Given the description of an element on the screen output the (x, y) to click on. 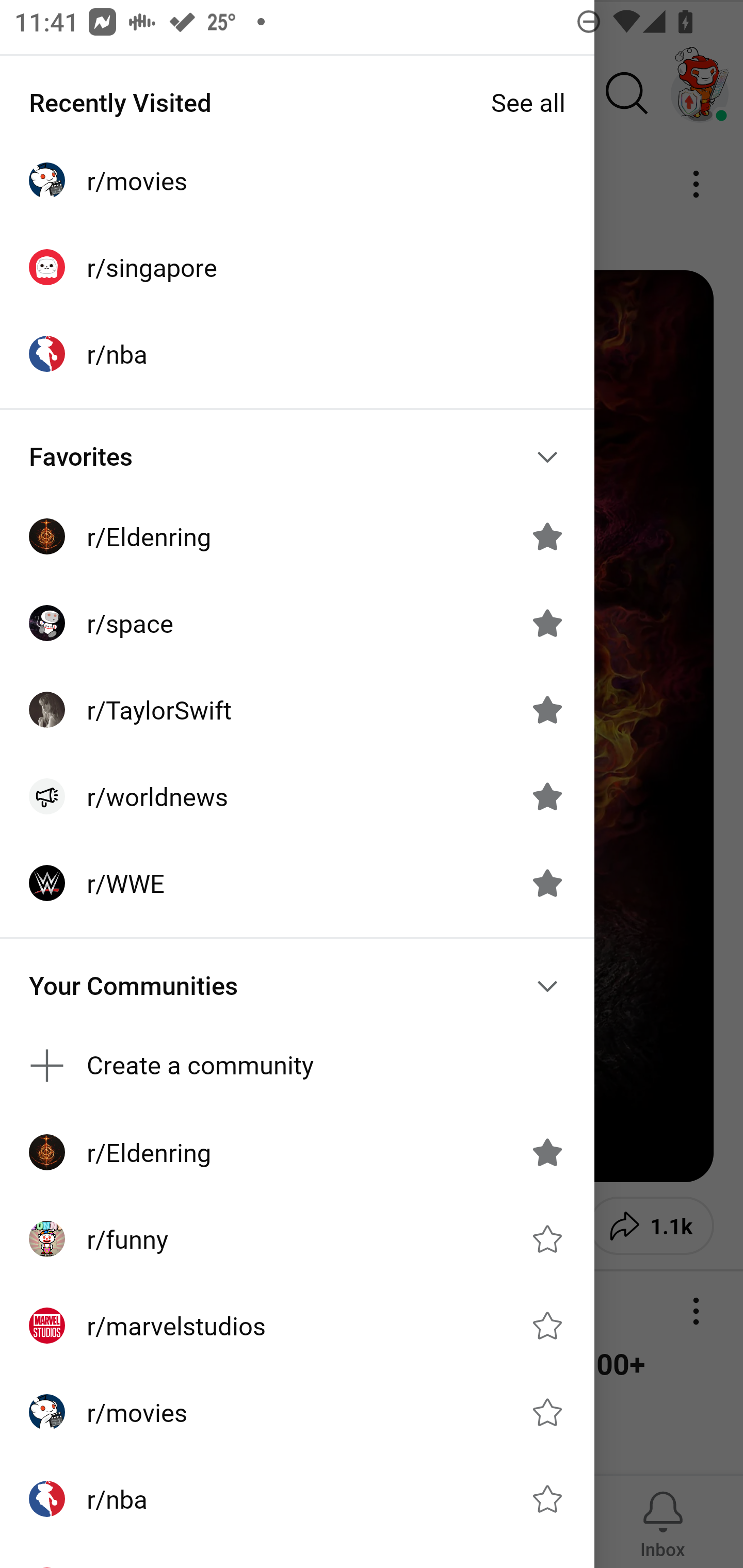
Recently Visited See all (297, 102)
See all (528, 102)
r/movies (297, 180)
r/singapore (297, 267)
r/nba (297, 353)
Favorites (297, 456)
r/Eldenring Unfavorite r/Eldenring (297, 536)
Unfavorite r/Eldenring (546, 536)
r/space Unfavorite r/space (297, 623)
Unfavorite r/space (546, 623)
r/TaylorSwift Unfavorite r/TaylorSwift (297, 709)
Unfavorite r/TaylorSwift (546, 709)
r/worldnews Unfavorite r/worldnews (297, 796)
Unfavorite r/worldnews (546, 796)
r/WWE Unfavorite r/WWE (297, 883)
Unfavorite r/WWE (546, 882)
Your Communities (297, 986)
Create a community (297, 1065)
r/Eldenring Unfavorite r/Eldenring (297, 1151)
Unfavorite r/Eldenring (546, 1152)
r/funny Favorite r/funny (297, 1238)
Favorite r/funny (546, 1238)
r/marvelstudios Favorite r/marvelstudios (297, 1325)
Favorite r/marvelstudios (546, 1325)
r/movies Favorite r/movies (297, 1411)
Favorite r/movies (546, 1411)
r/nba Favorite r/nba (297, 1498)
Favorite r/nba (546, 1498)
